Given the description of an element on the screen output the (x, y) to click on. 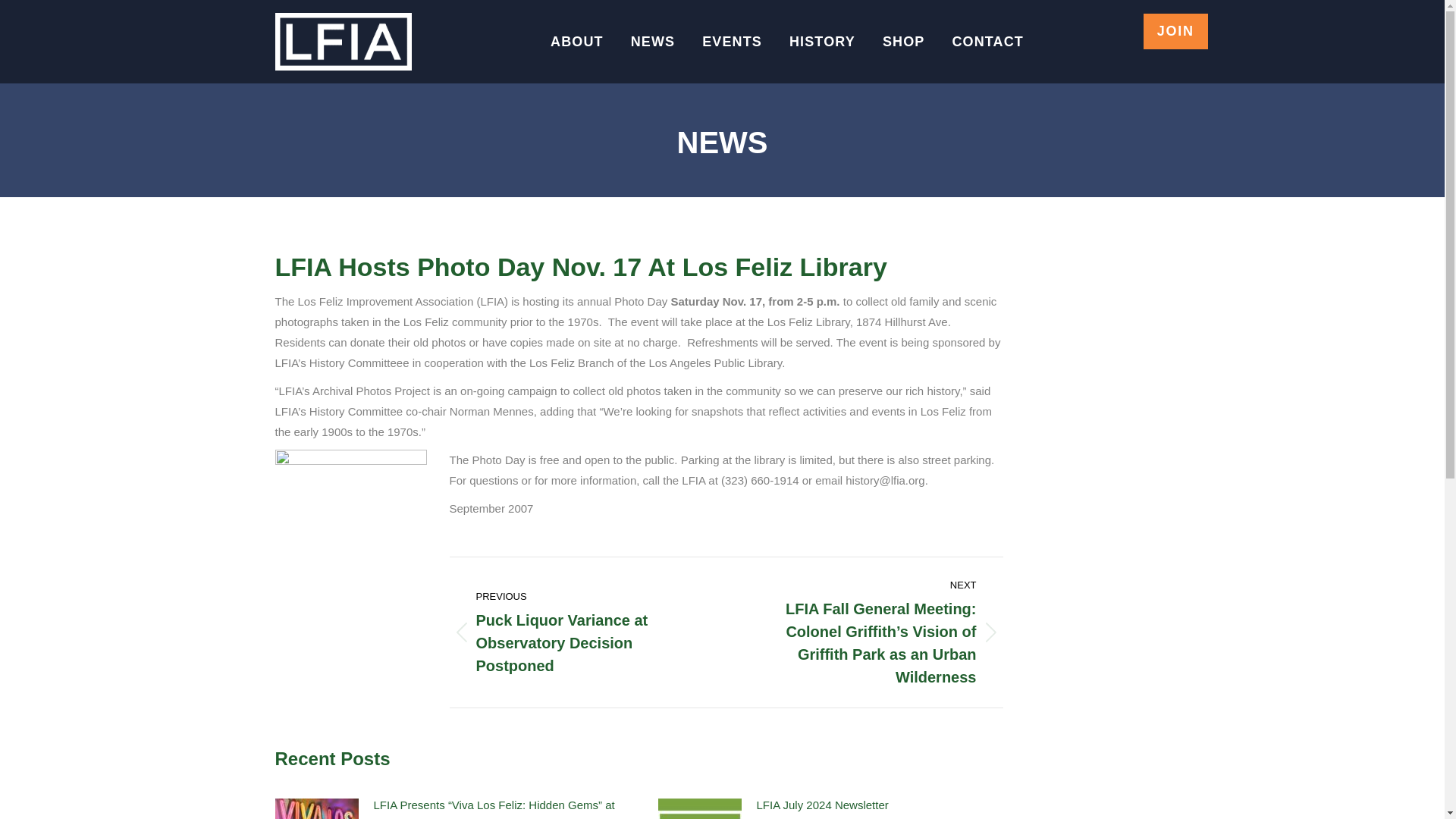
CONTACT (987, 41)
EVENTS (731, 41)
1965 (350, 518)
JOIN (1175, 31)
NEWS (652, 41)
ABOUT (577, 41)
HISTORY (822, 41)
